Given the description of an element on the screen output the (x, y) to click on. 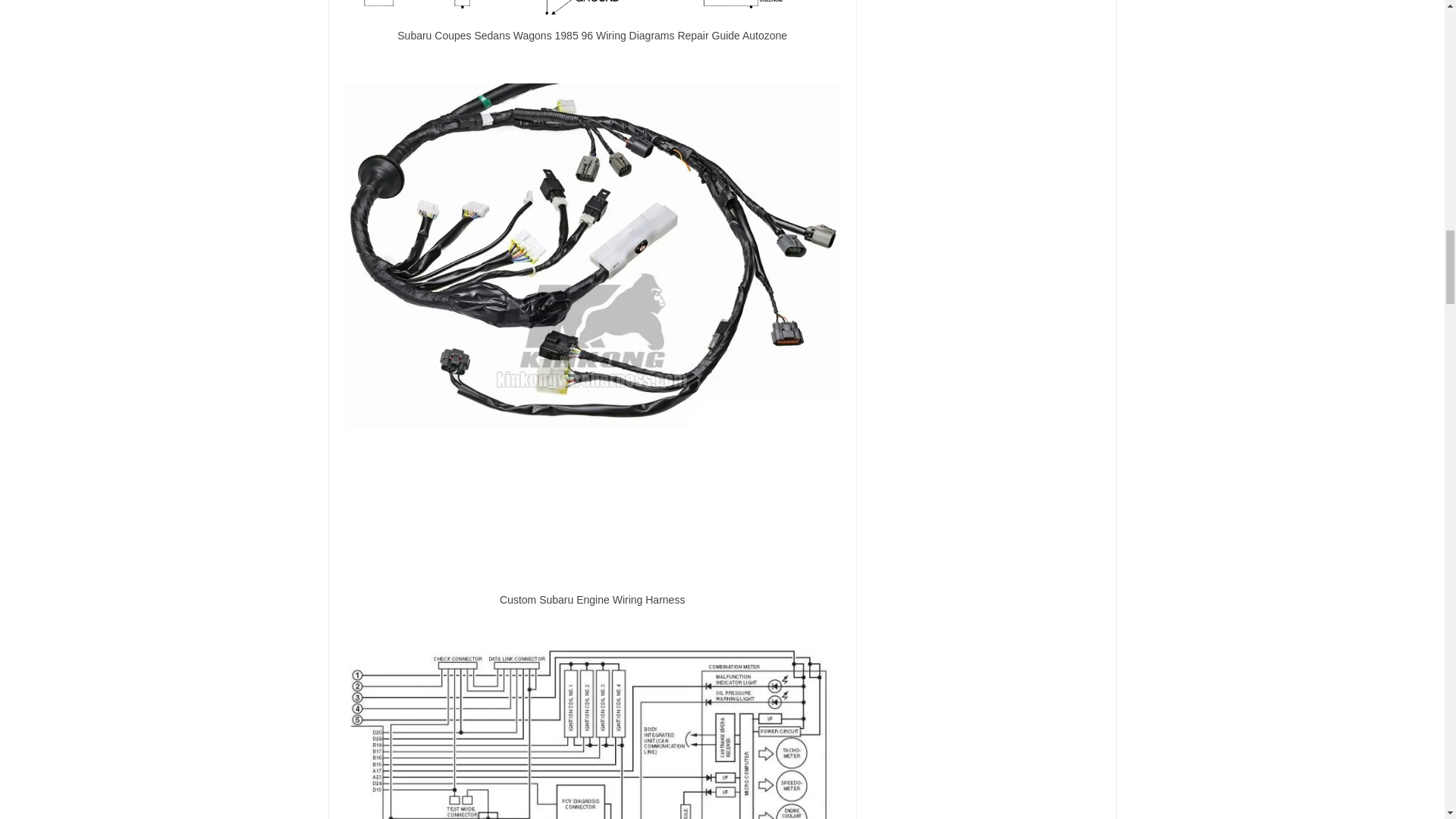
Xcceleration (591, 733)
